Given the description of an element on the screen output the (x, y) to click on. 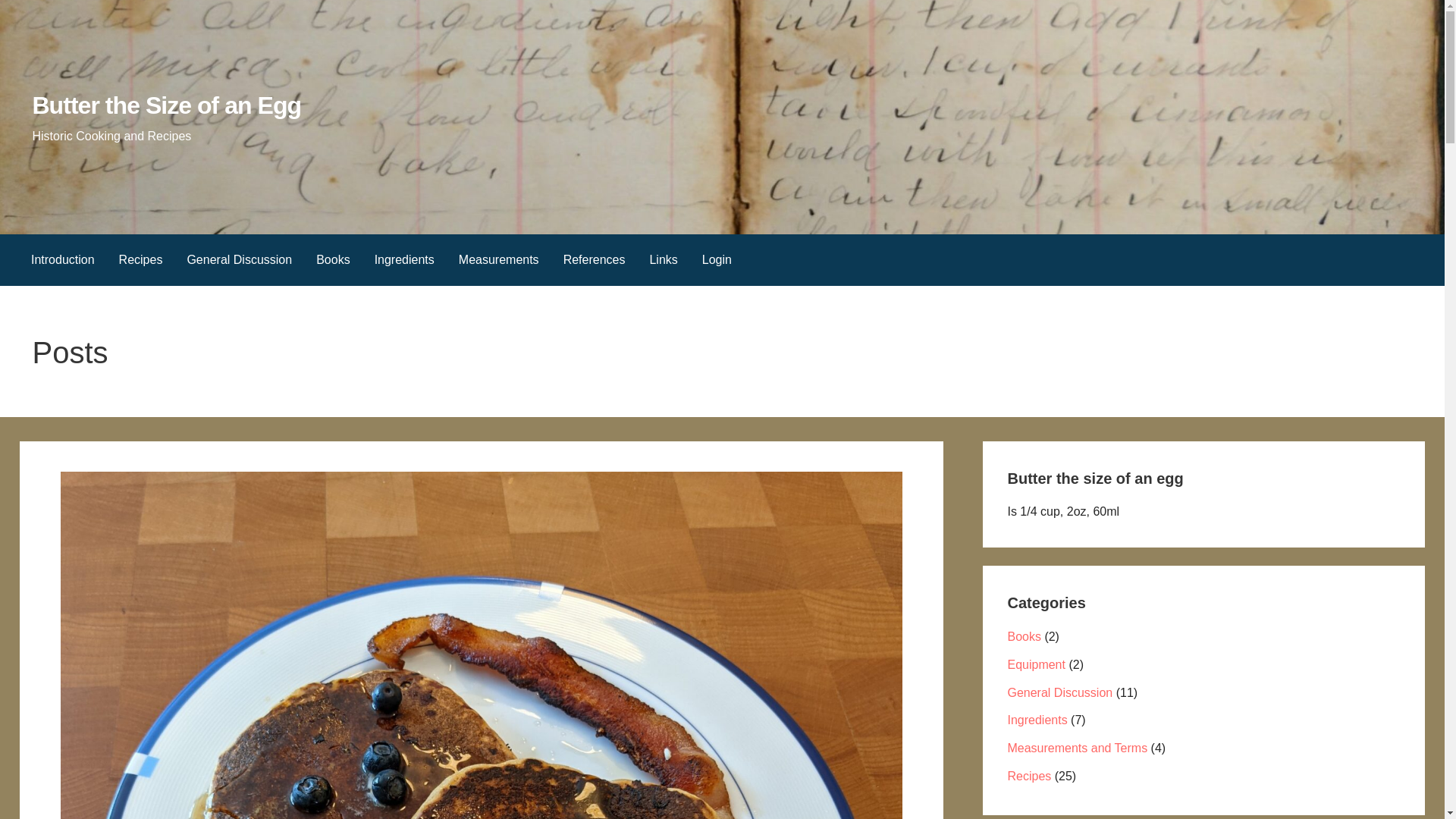
Measurements and Terms (1077, 748)
Ingredients (1037, 719)
Books (1024, 635)
Login (717, 259)
Links (662, 259)
References (594, 259)
General Discussion (1059, 692)
Equipment (1036, 664)
Measurements (498, 259)
Recipes (140, 259)
Books (332, 259)
Introduction (62, 259)
Recipes (1029, 775)
General Discussion (239, 259)
Ingredients (404, 259)
